Given the description of an element on the screen output the (x, y) to click on. 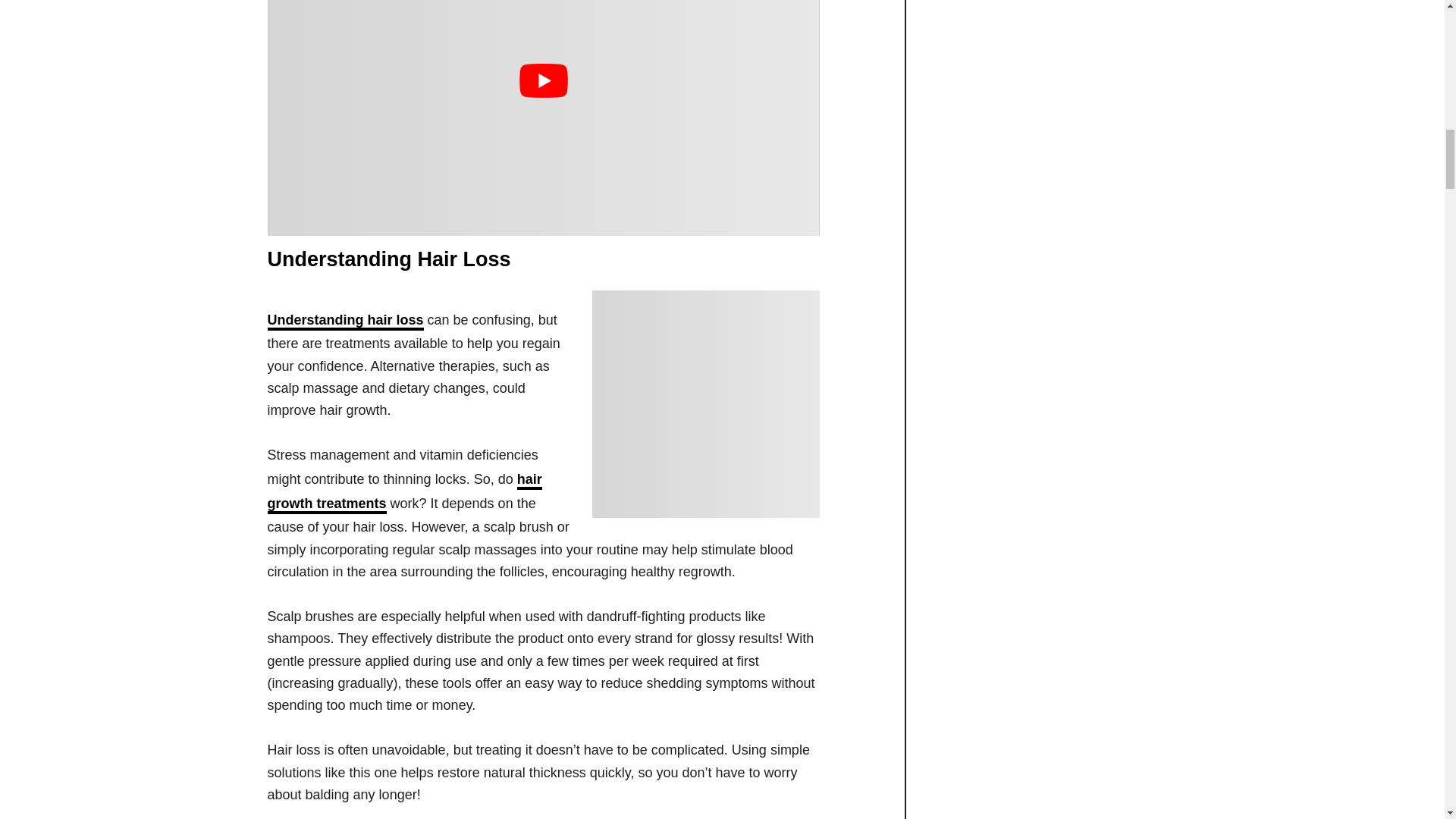
hair growth treatments (403, 493)
Understanding hair loss (344, 321)
